Given the description of an element on the screen output the (x, y) to click on. 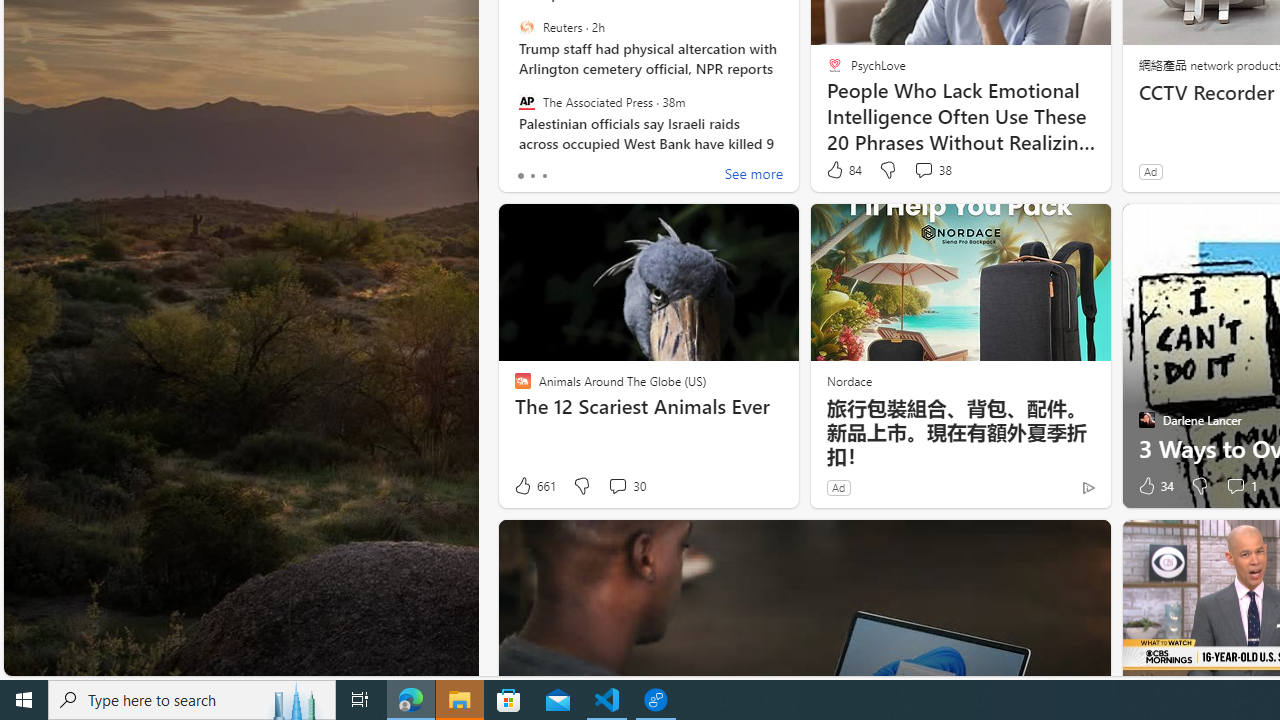
84 Like (843, 170)
View comments 38 Comment (923, 169)
View comments 1 Comment (1234, 485)
34 Like (1154, 485)
tab-0 (520, 175)
